Given the description of an element on the screen output the (x, y) to click on. 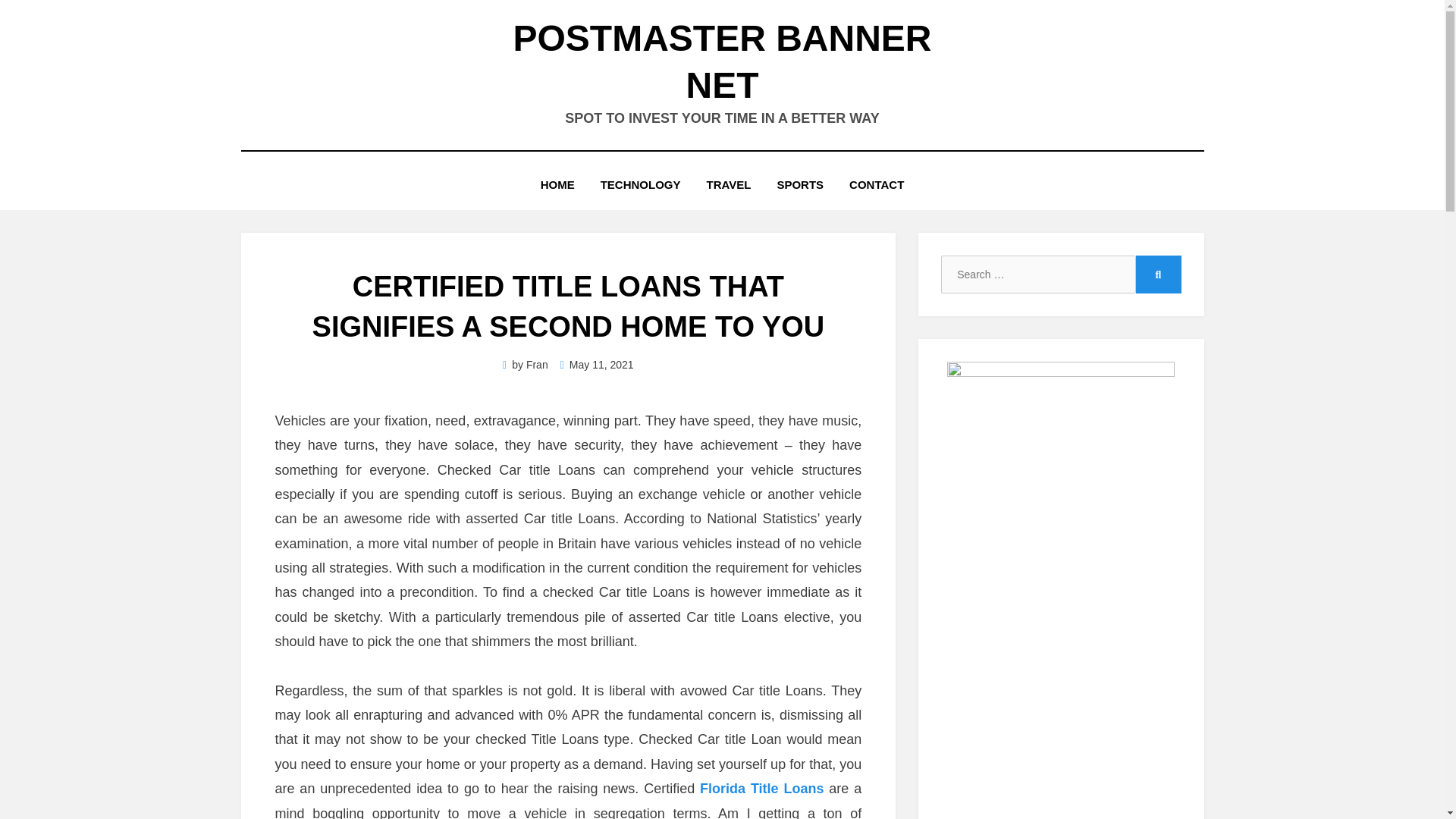
HOME (557, 184)
Search for: (1037, 274)
TRAVEL (729, 184)
Fran (536, 364)
POSTMASTER BANNER NET (721, 61)
TECHNOLOGY (641, 184)
May 11, 2021 (596, 364)
Search (1157, 274)
Florida Title Loans (762, 788)
Postmaster Banner Net (721, 61)
